Given the description of an element on the screen output the (x, y) to click on. 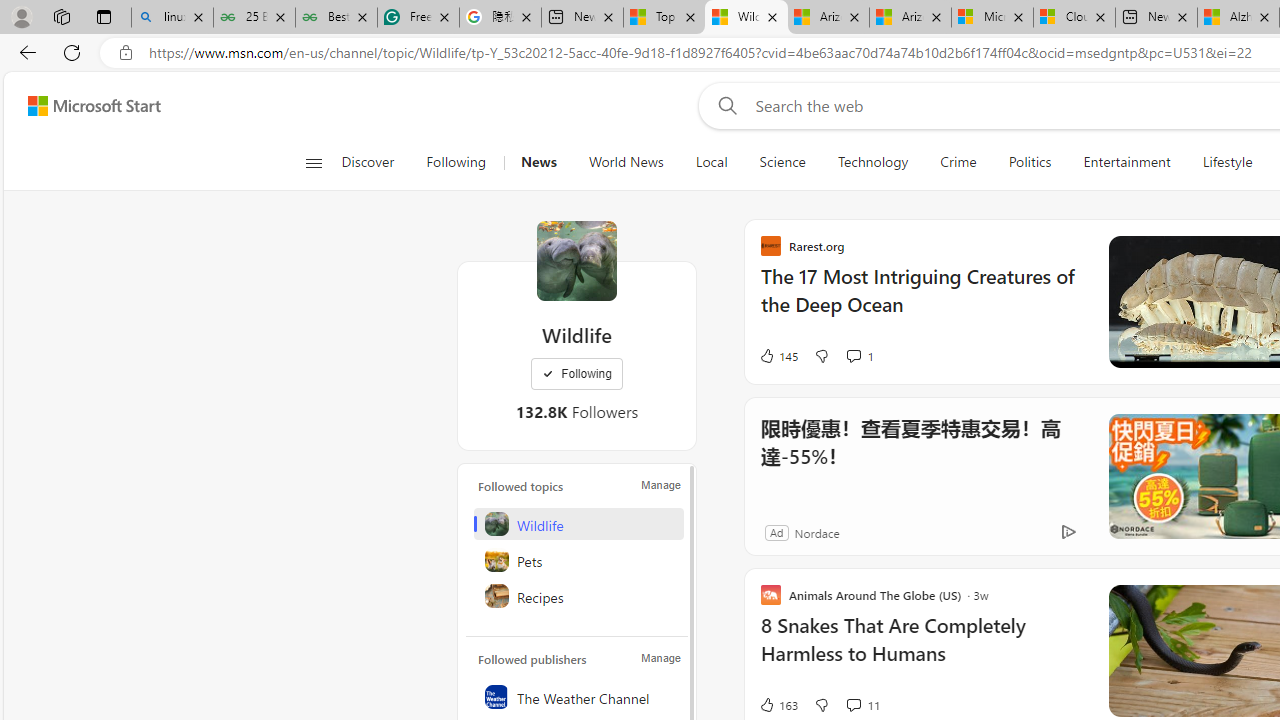
Wildlife (578, 524)
Recipes (578, 596)
